Given the description of an element on the screen output the (x, y) to click on. 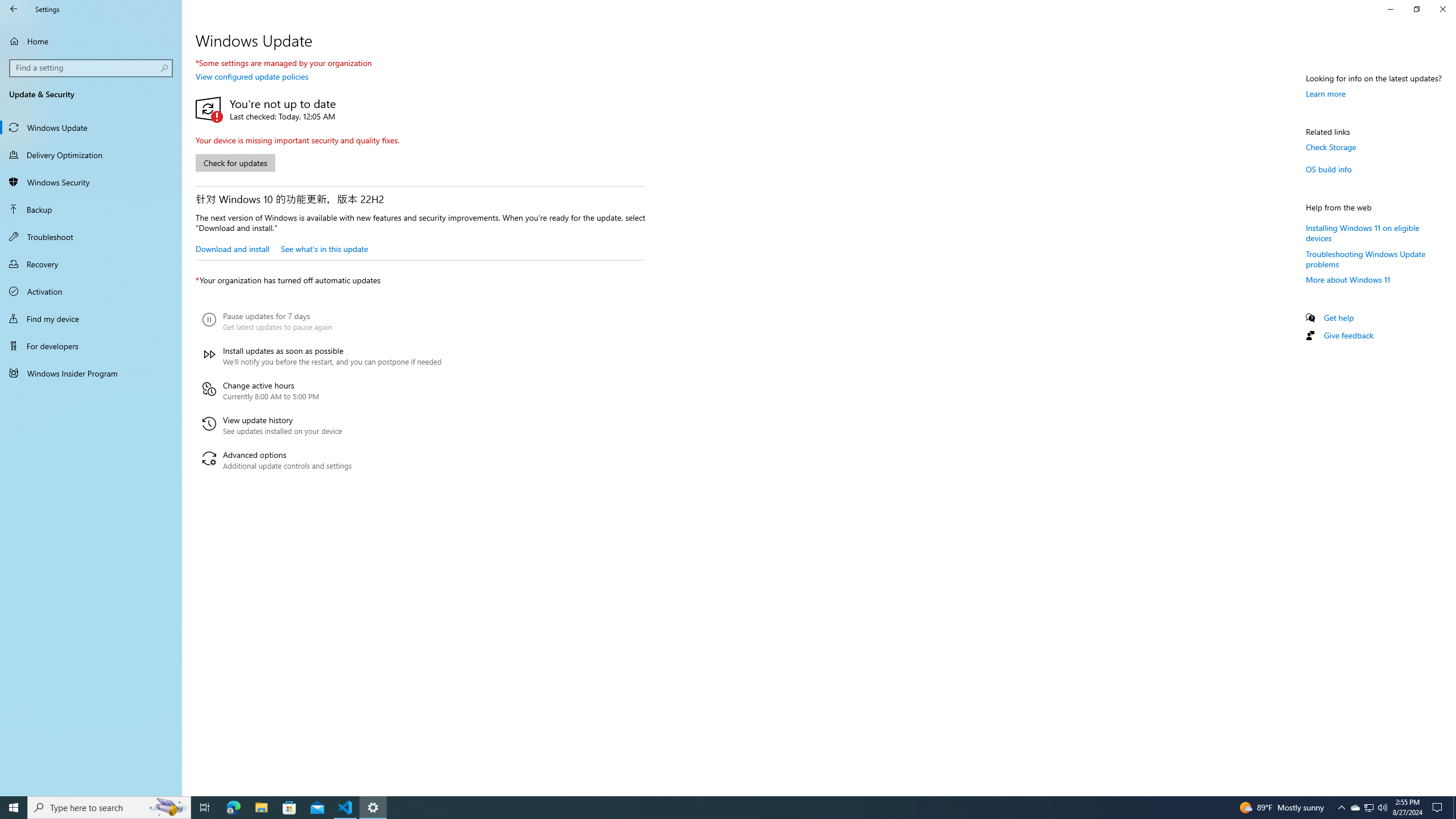
Action Center, No new notifications (1439, 807)
Install updates as soon as possible (321, 356)
Microsoft Store (289, 807)
Pause updates for 7 days (321, 321)
Change active hours (321, 390)
See what's in this update (324, 248)
Troubleshoot (91, 236)
Restore Settings (1416, 9)
User Promoted Notification Area (1368, 807)
Windows Insider Program (91, 372)
Home (91, 40)
Notification Chevron (1341, 807)
Task View (204, 807)
Activation (91, 290)
